Given the description of an element on the screen output the (x, y) to click on. 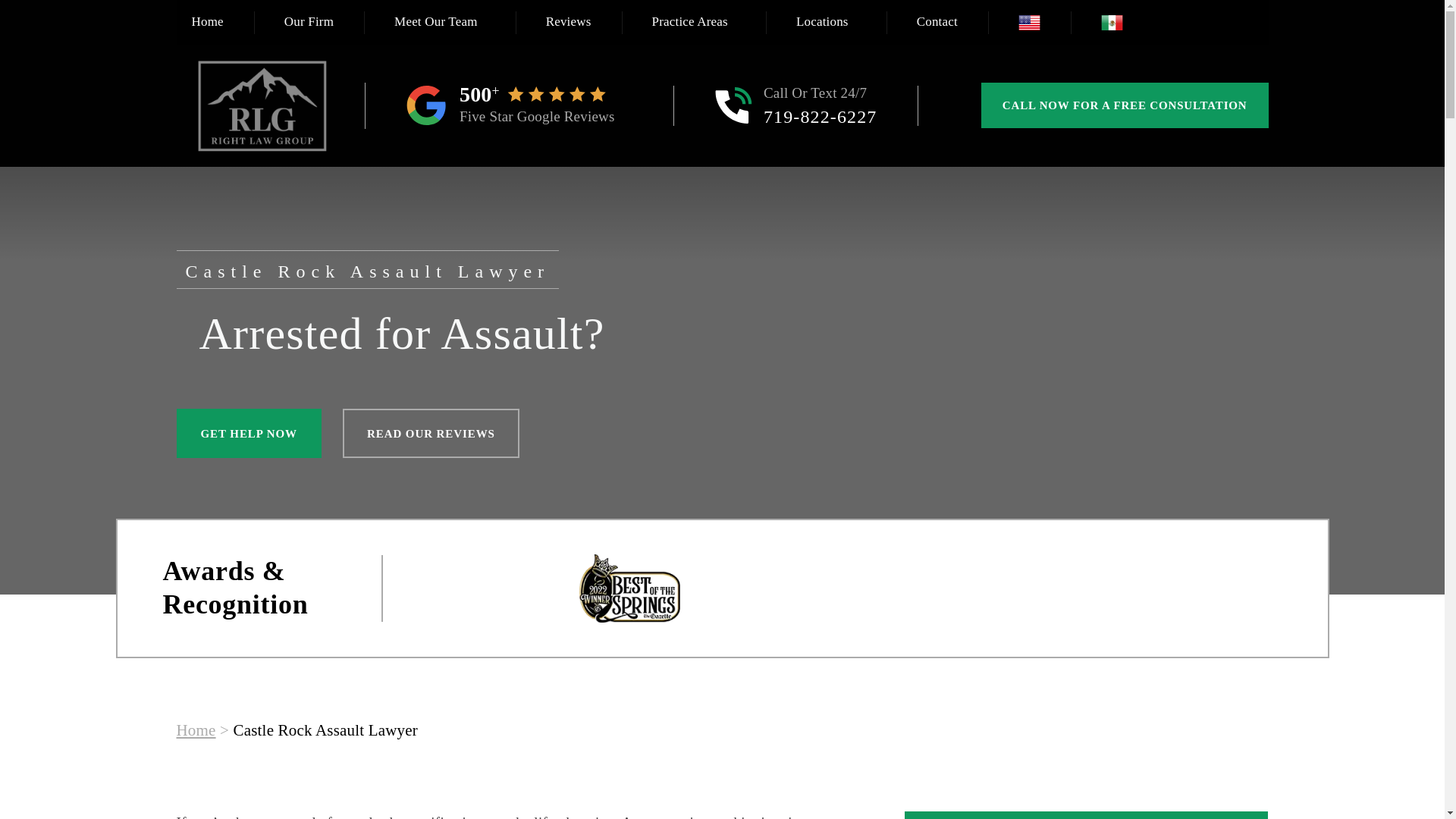
Practice Areas (694, 22)
Home (207, 22)
Reviews (569, 22)
Right Law Group (261, 105)
Meet Our Team (439, 22)
Our Firm (309, 22)
